Given the description of an element on the screen output the (x, y) to click on. 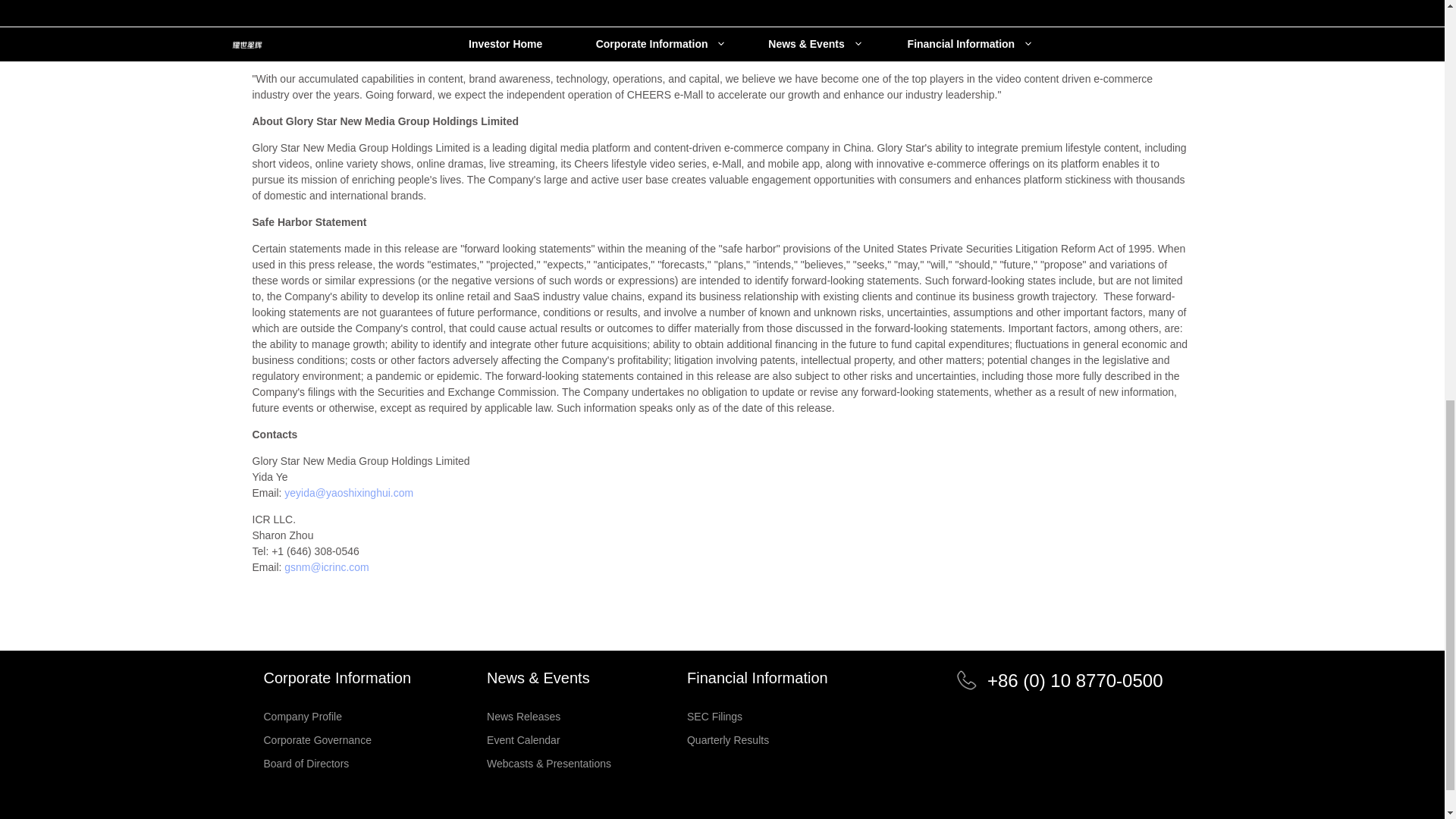
Event Calendar (548, 739)
Corporate Governance (337, 739)
SEC Filings (757, 716)
Board of Directors (337, 763)
Company Profile (337, 716)
News Releases (548, 716)
Quarterly Results (757, 739)
